Given the description of an element on the screen output the (x, y) to click on. 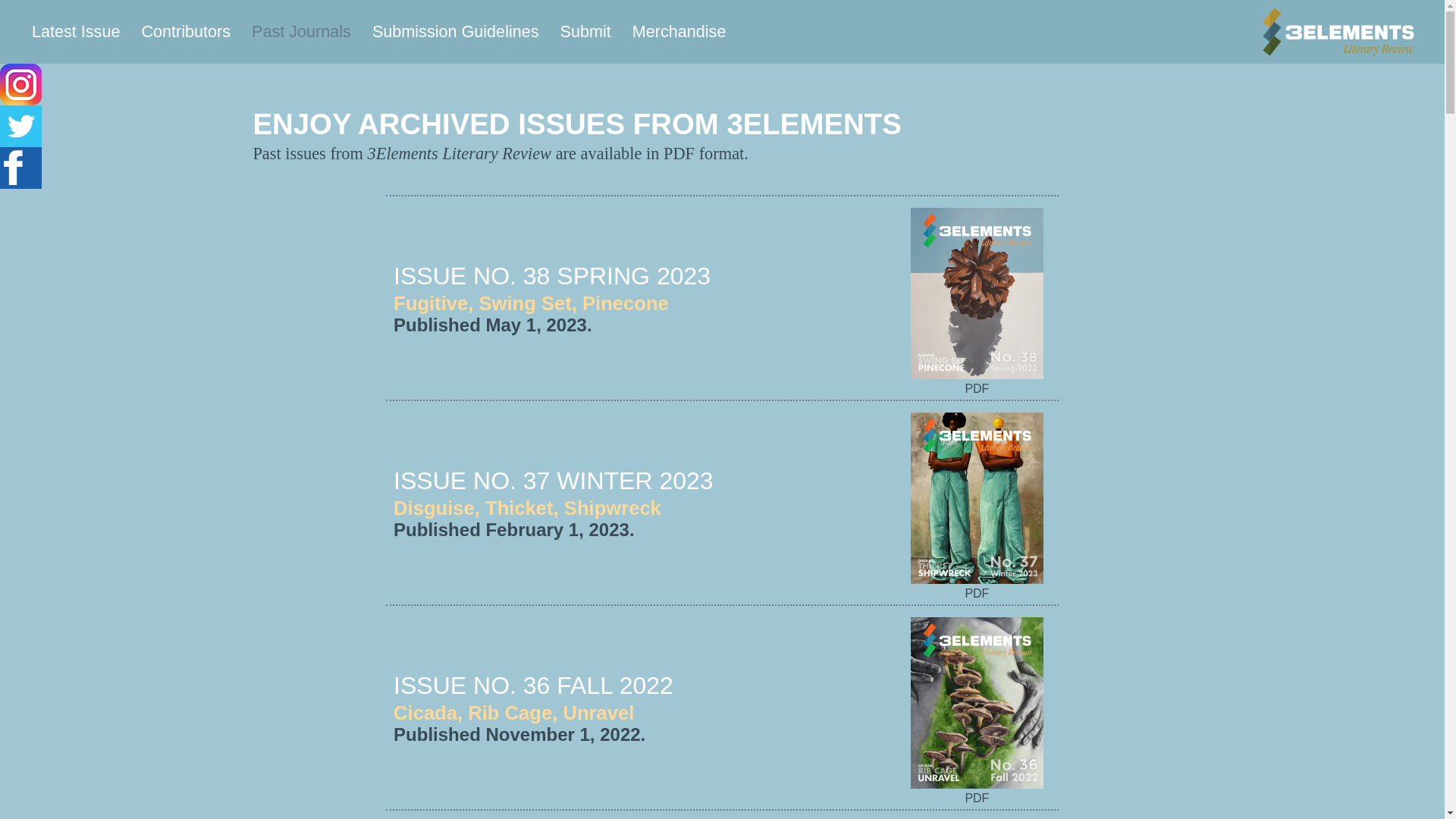
Submission Guidelines Element type: text (455, 31)
Past Journals Element type: text (301, 31)
Latest Issue Element type: text (75, 31)
Contributors Element type: text (185, 31)
Submit Element type: text (585, 31)
Merchandise Element type: text (679, 31)
